Given the description of an element on the screen output the (x, y) to click on. 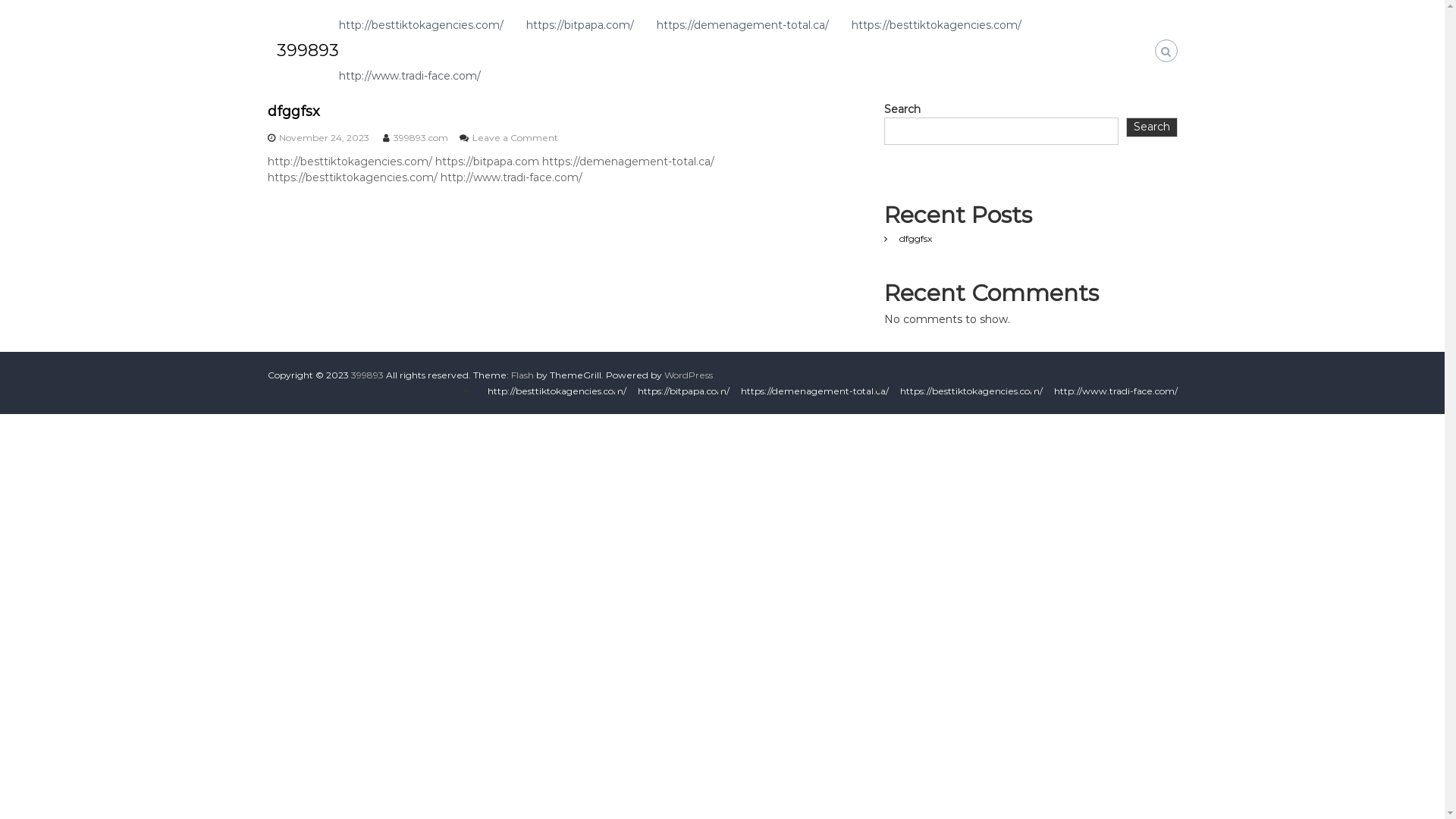
399893 Element type: text (366, 374)
http://besttiktokagencies.com/ Element type: text (420, 24)
dfggfsx Element type: text (915, 237)
http://besttiktokagencies.com/ Element type: text (555, 390)
399893.com Element type: text (419, 137)
Flash Element type: text (522, 374)
https://besttiktokagencies.com/ Element type: text (970, 390)
November 24, 2023 Element type: text (324, 137)
https://demenagement-total.ca/ Element type: text (742, 24)
https://bitpapa.com/ Element type: text (682, 390)
399893 Element type: text (307, 50)
Search Element type: text (1151, 127)
http://www.tradi-face.com/ Element type: text (1115, 390)
Leave a Comment
on dfggfsx Element type: text (514, 137)
https://demenagement-total.ca/ Element type: text (814, 390)
http://www.tradi-face.com/ Element type: text (409, 75)
WordPress Element type: text (688, 374)
https://besttiktokagencies.com/ Element type: text (935, 24)
dfggfsx Element type: text (292, 111)
https://bitpapa.com/ Element type: text (579, 24)
